Given the description of an element on the screen output the (x, y) to click on. 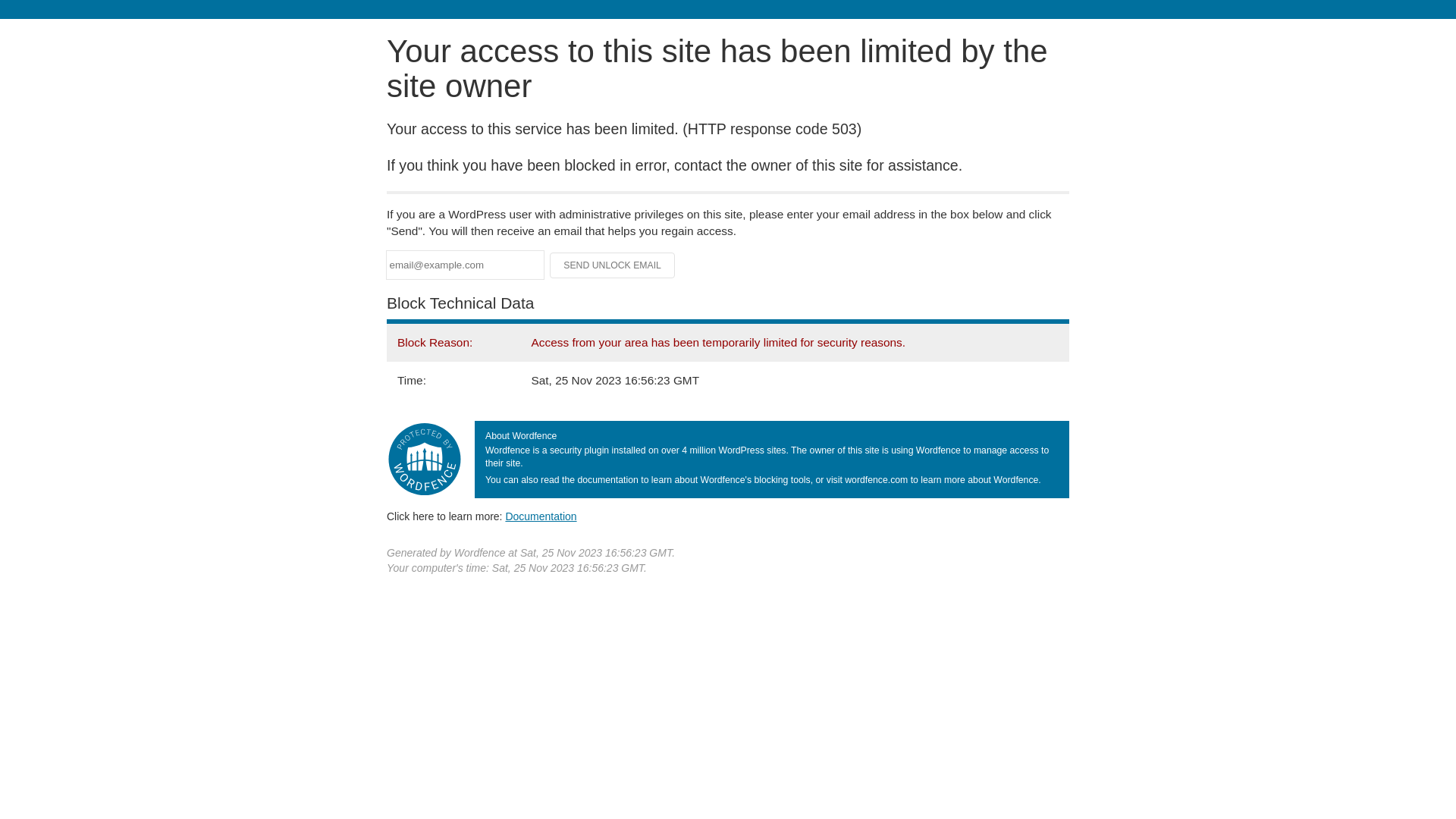
Documentation Element type: text (540, 516)
Send Unlock Email Element type: text (612, 265)
